Given the description of an element on the screen output the (x, y) to click on. 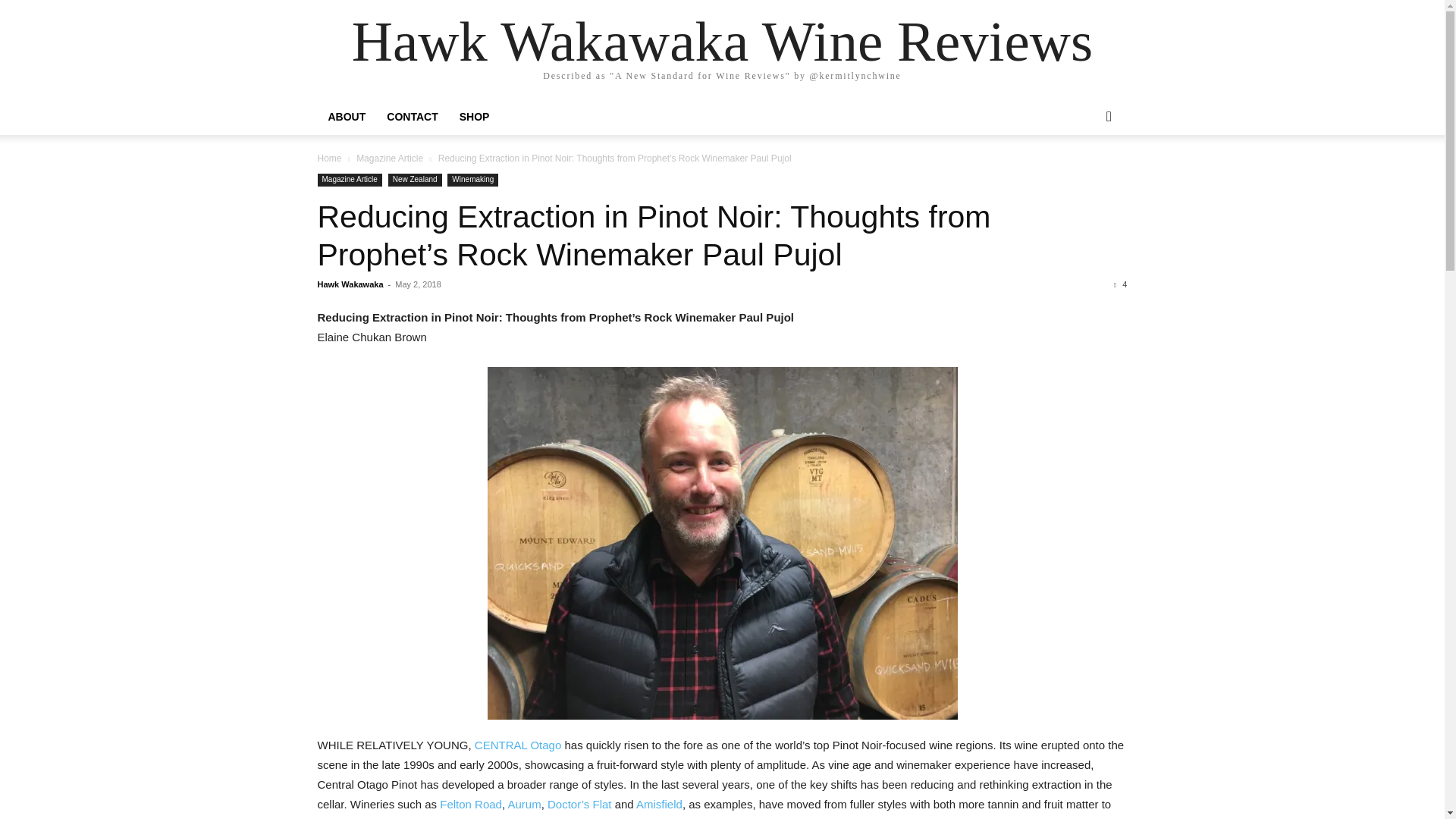
Home (328, 158)
Amisfield (659, 803)
View all posts in Magazine Article (389, 158)
Winemaking (471, 179)
Hawk Wakawaka Wine Reviews (722, 41)
SHOP (474, 116)
CONTACT (411, 116)
New Zealand (415, 179)
ABOUT (346, 116)
CENTRAL Otago (518, 744)
